Given the description of an element on the screen output the (x, y) to click on. 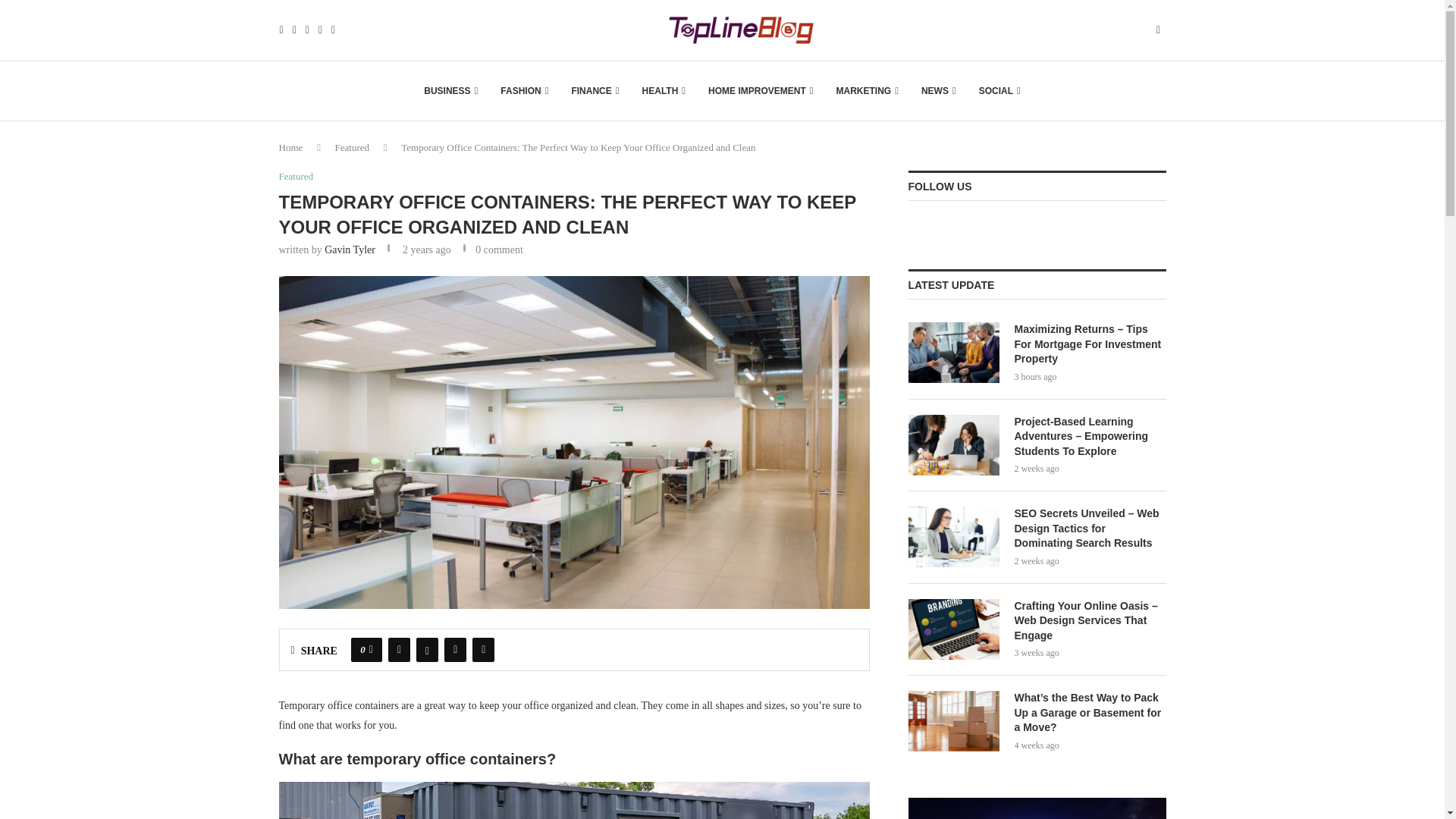
Like (370, 649)
